Given the description of an element on the screen output the (x, y) to click on. 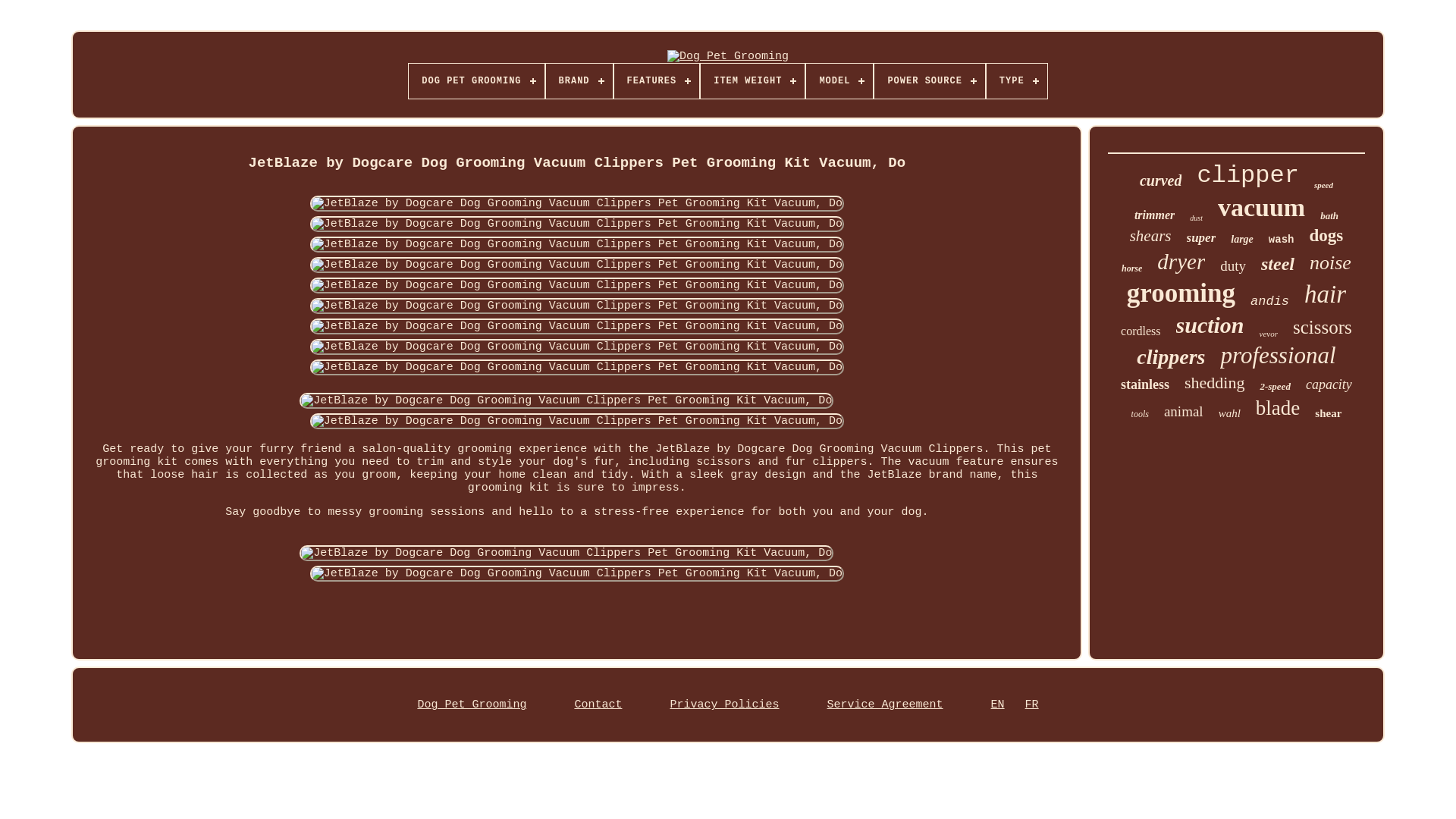
FEATURES (657, 80)
BRAND (579, 80)
DOG PET GROOMING (476, 80)
